Given the description of an element on the screen output the (x, y) to click on. 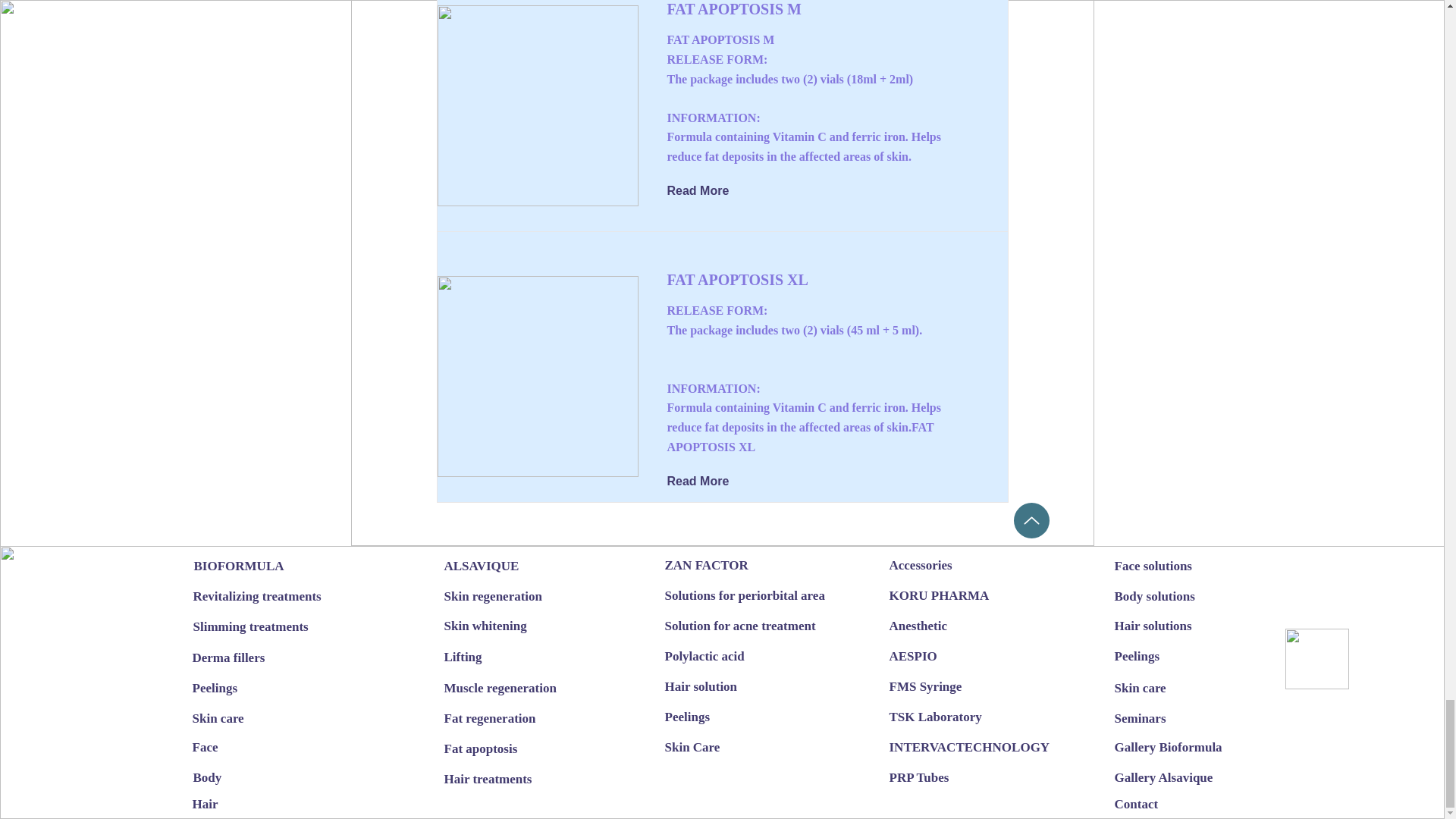
BIOFORMULA (247, 565)
Revitalizing treatments (256, 595)
fat-apoptosis-M.png (536, 105)
Read More (707, 191)
Derma fillers (245, 657)
Read More (707, 481)
fat-apoptosis-XL.png (536, 376)
Slimming treatments (249, 625)
